Given the description of an element on the screen output the (x, y) to click on. 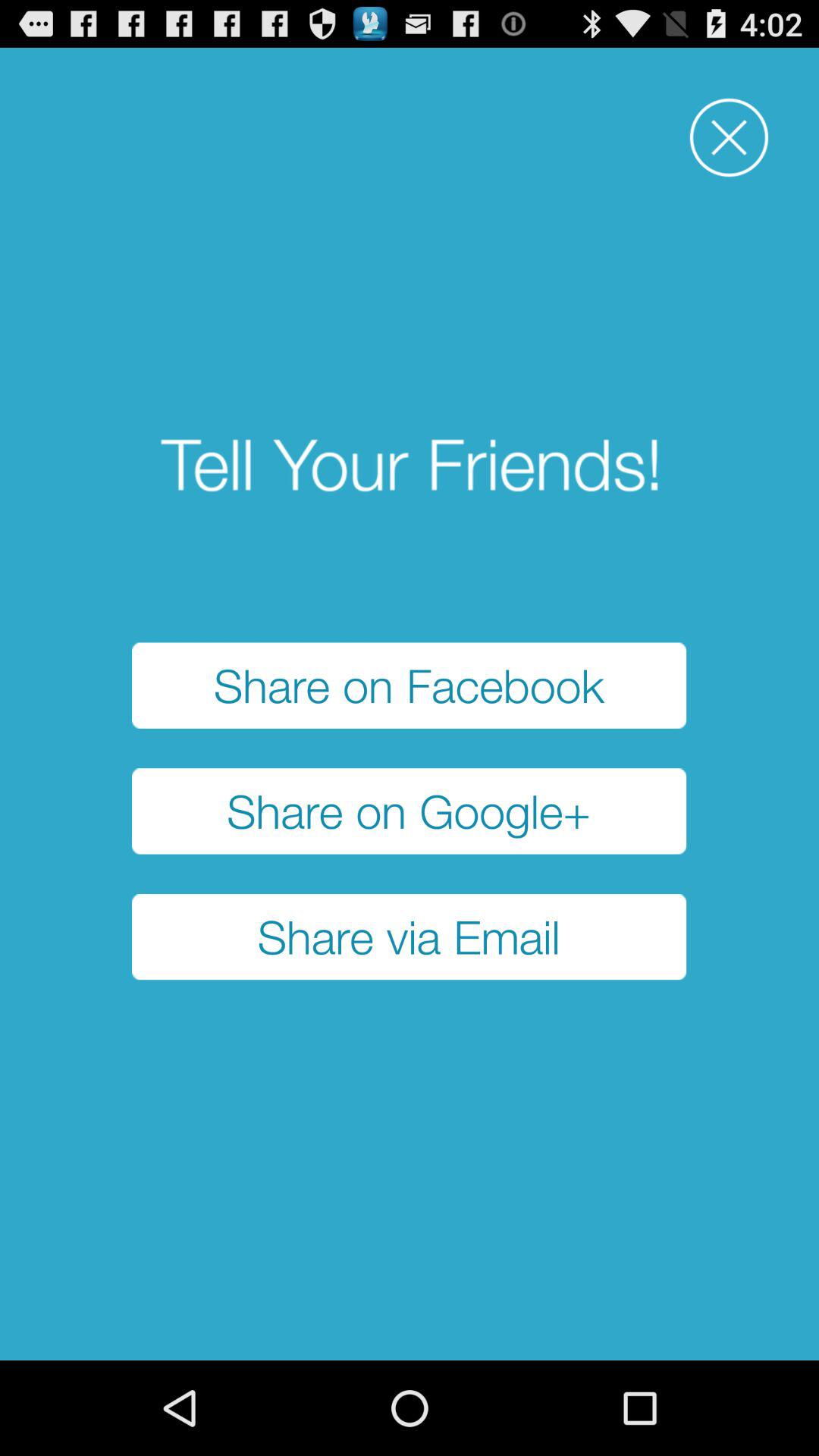
click to close option (728, 137)
